Given the description of an element on the screen output the (x, y) to click on. 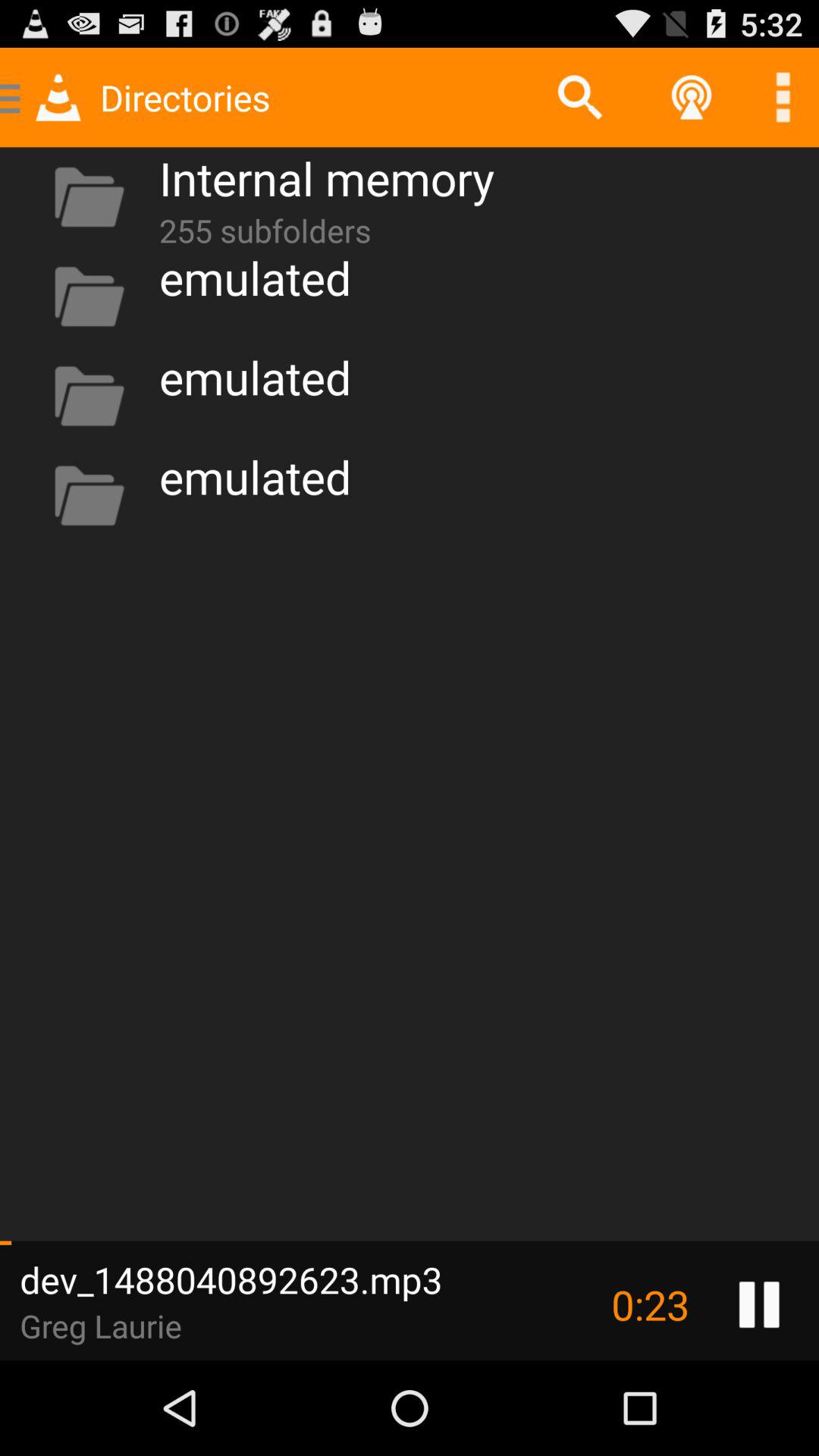
more options button (783, 97)
